Given the description of an element on the screen output the (x, y) to click on. 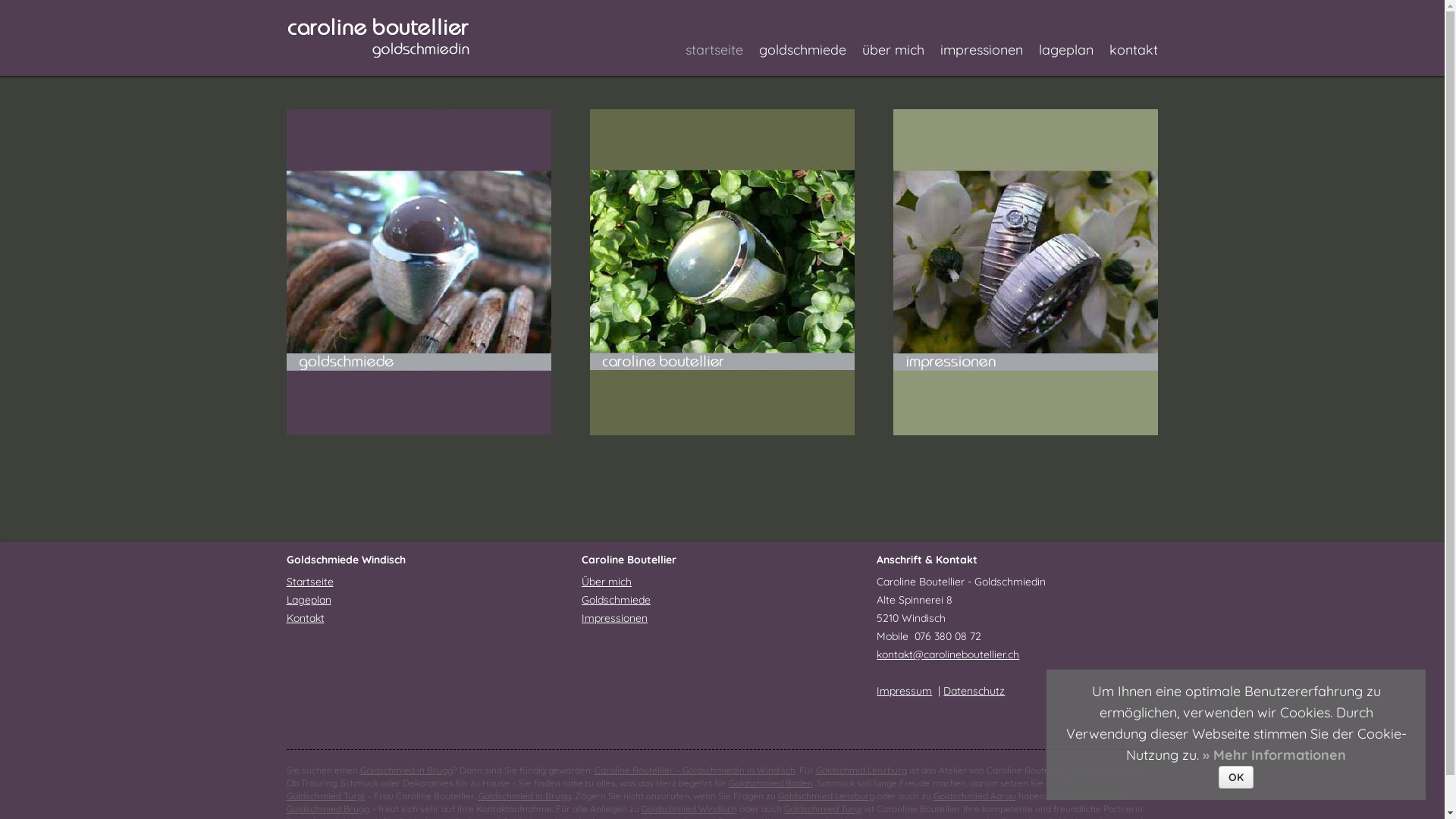
startseite Element type: text (714, 49)
Goldschmied Lenzburg Element type: text (826, 795)
Goldschmied Windisch Element type: text (689, 808)
Goldschmied Aarau Element type: text (973, 795)
Goldschmied Brugg Element type: text (327, 808)
Goldschmiede Element type: text (615, 599)
Goldschmied Turgi Element type: text (823, 808)
Goldschmied Baden Element type: text (770, 782)
impressionen Element type: text (981, 49)
kontakt@carolineboutellier.ch Element type: text (947, 654)
Lageplan Element type: text (308, 599)
Goldschmied in Brugg Element type: text (523, 795)
Impressum Element type: text (903, 690)
OK Element type: text (1235, 776)
goldschmiede Element type: text (801, 49)
Goldschmid Lenzburg Element type: text (860, 769)
kontakt Element type: text (1132, 49)
Datenschutz Element type: text (973, 690)
Startseite Element type: text (309, 581)
Goldschmied Turgi Element type: text (325, 795)
Goldschmied in Brugg Element type: text (405, 769)
Impressionen Element type: text (614, 617)
lageplan Element type: text (1065, 49)
Kontakt Element type: text (305, 617)
